Given the description of an element on the screen output the (x, y) to click on. 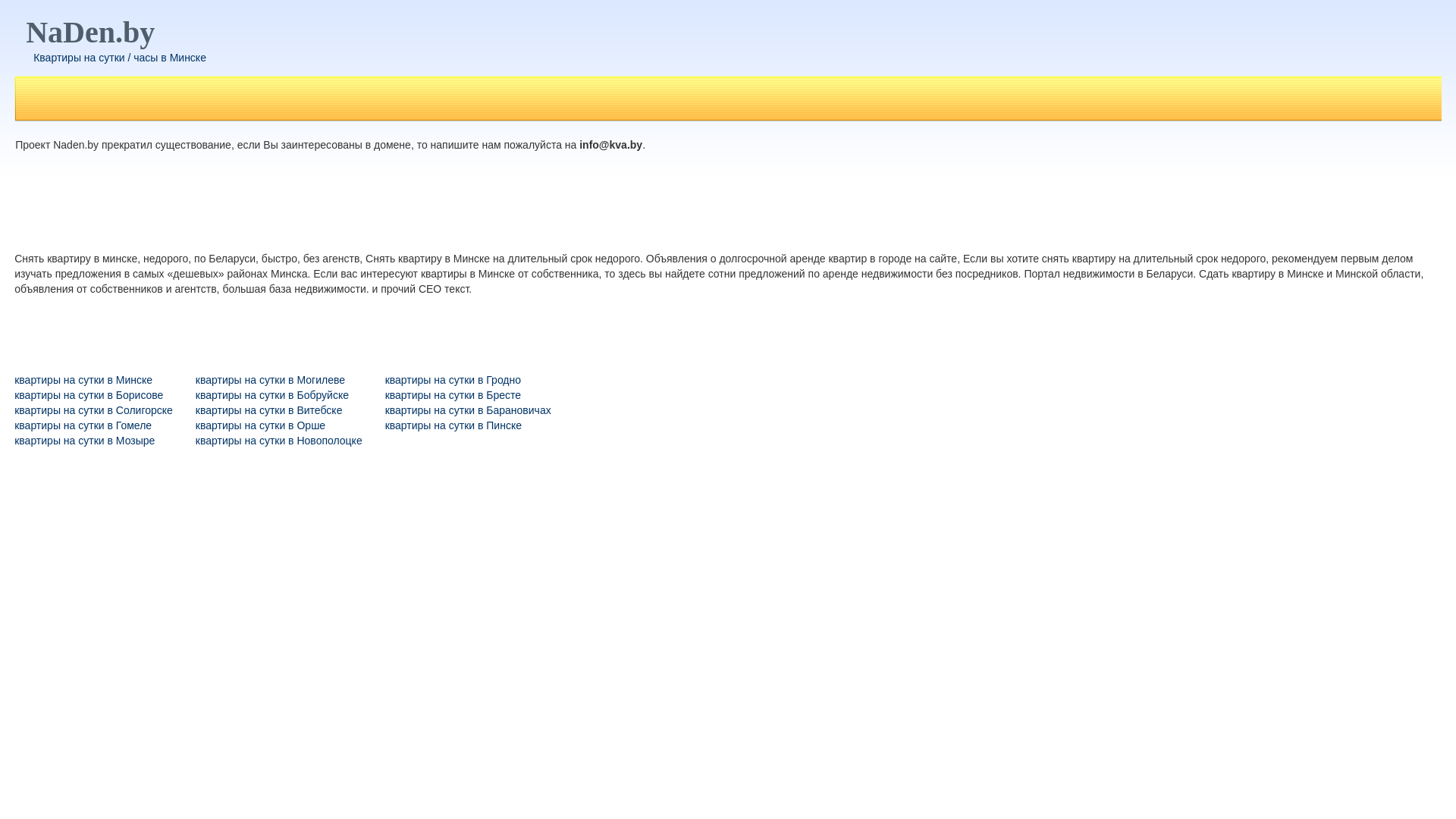
NaDen.by Element type: text (89, 32)
